Given the description of an element on the screen output the (x, y) to click on. 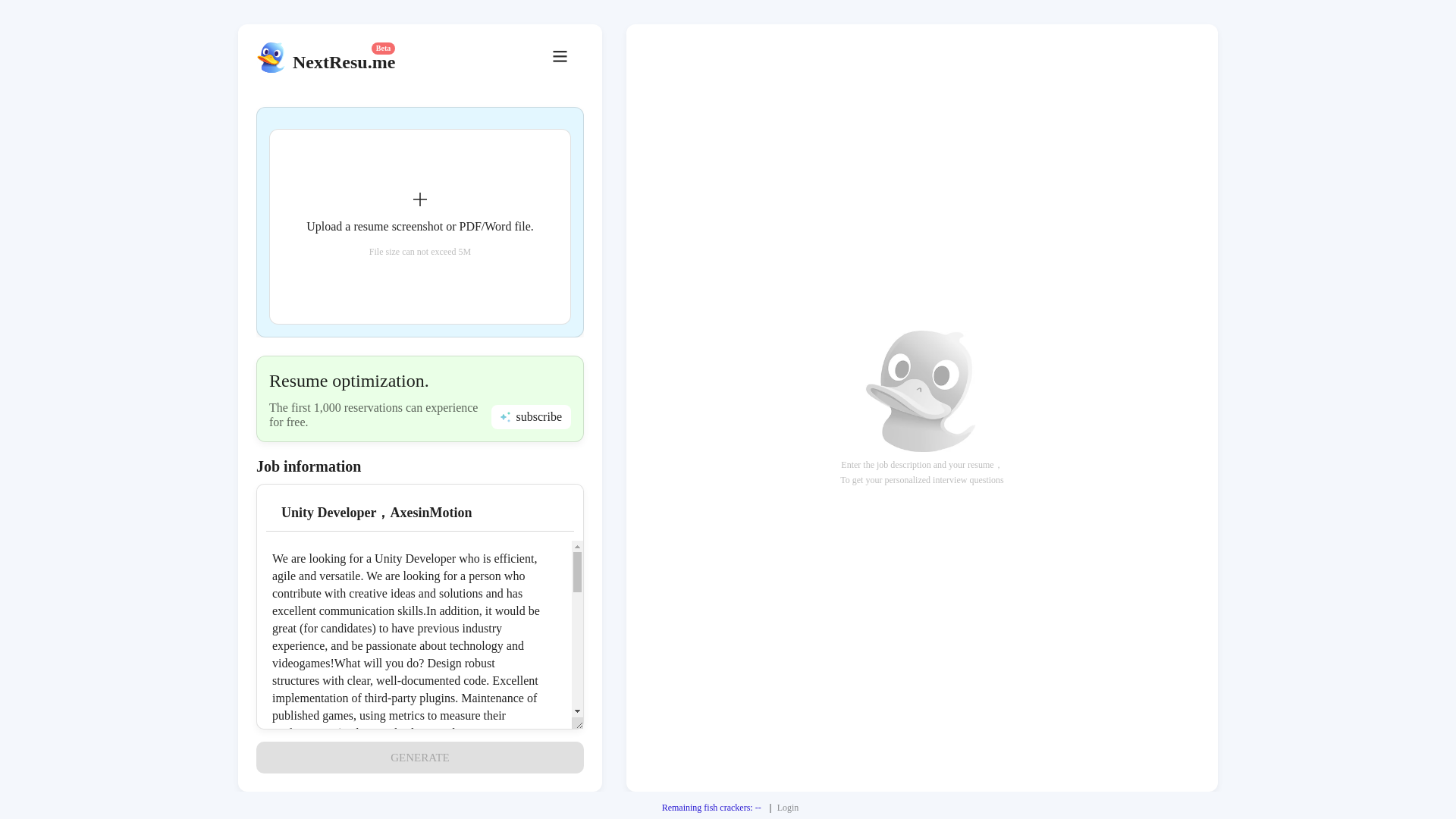
GENERATE (419, 757)
Login (788, 807)
Remaining fish crackers: -- (711, 807)
subscribe (531, 416)
